Given the description of an element on the screen output the (x, y) to click on. 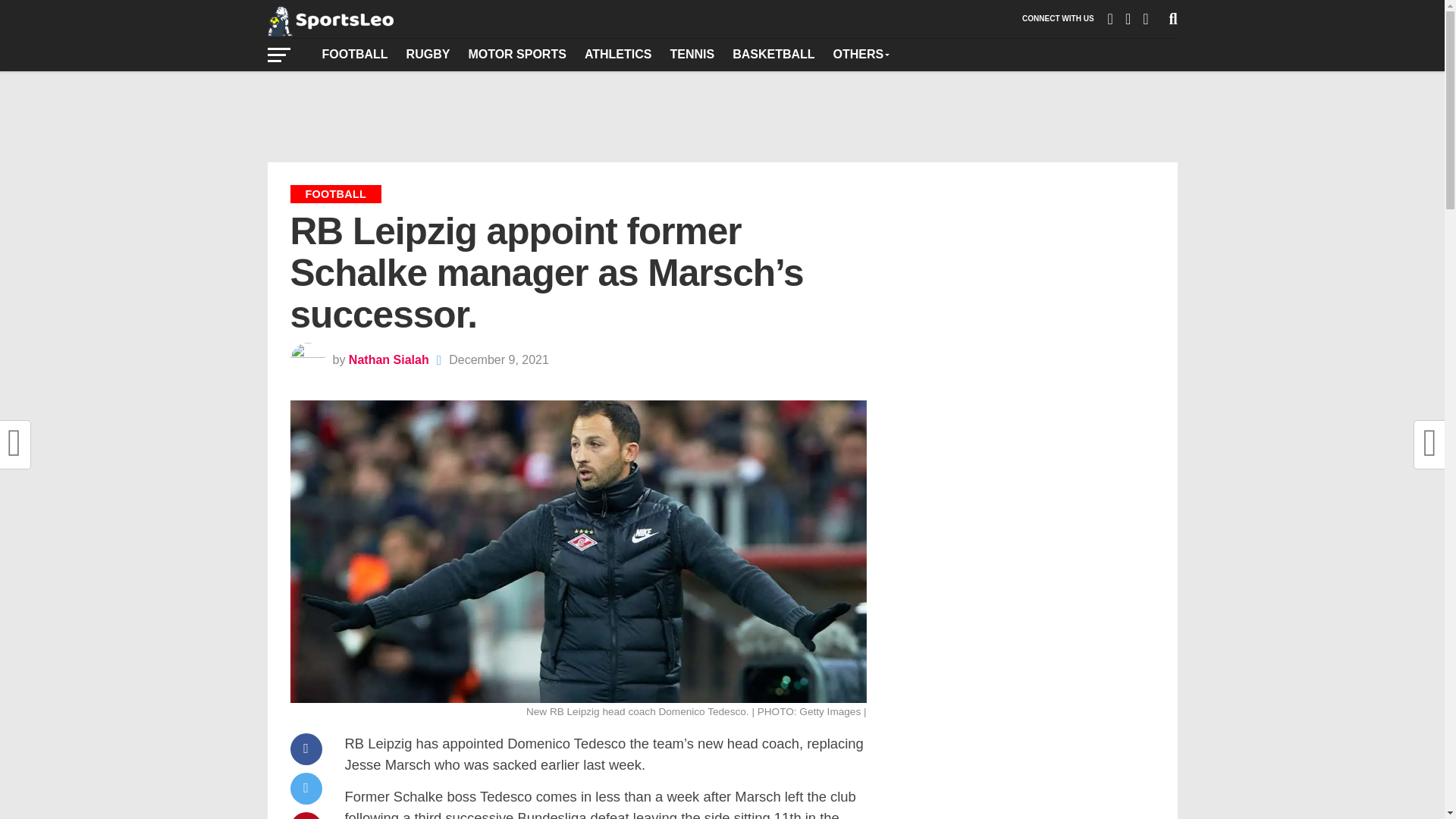
Nathan Sialah (389, 359)
OTHERS (861, 54)
FOOTBALL (354, 54)
BASKETBALL (773, 54)
ATHLETICS (618, 54)
RUGBY (428, 54)
Posts by Nathan Sialah (389, 359)
MOTOR SPORTS (516, 54)
TENNIS (692, 54)
